Given the description of an element on the screen output the (x, y) to click on. 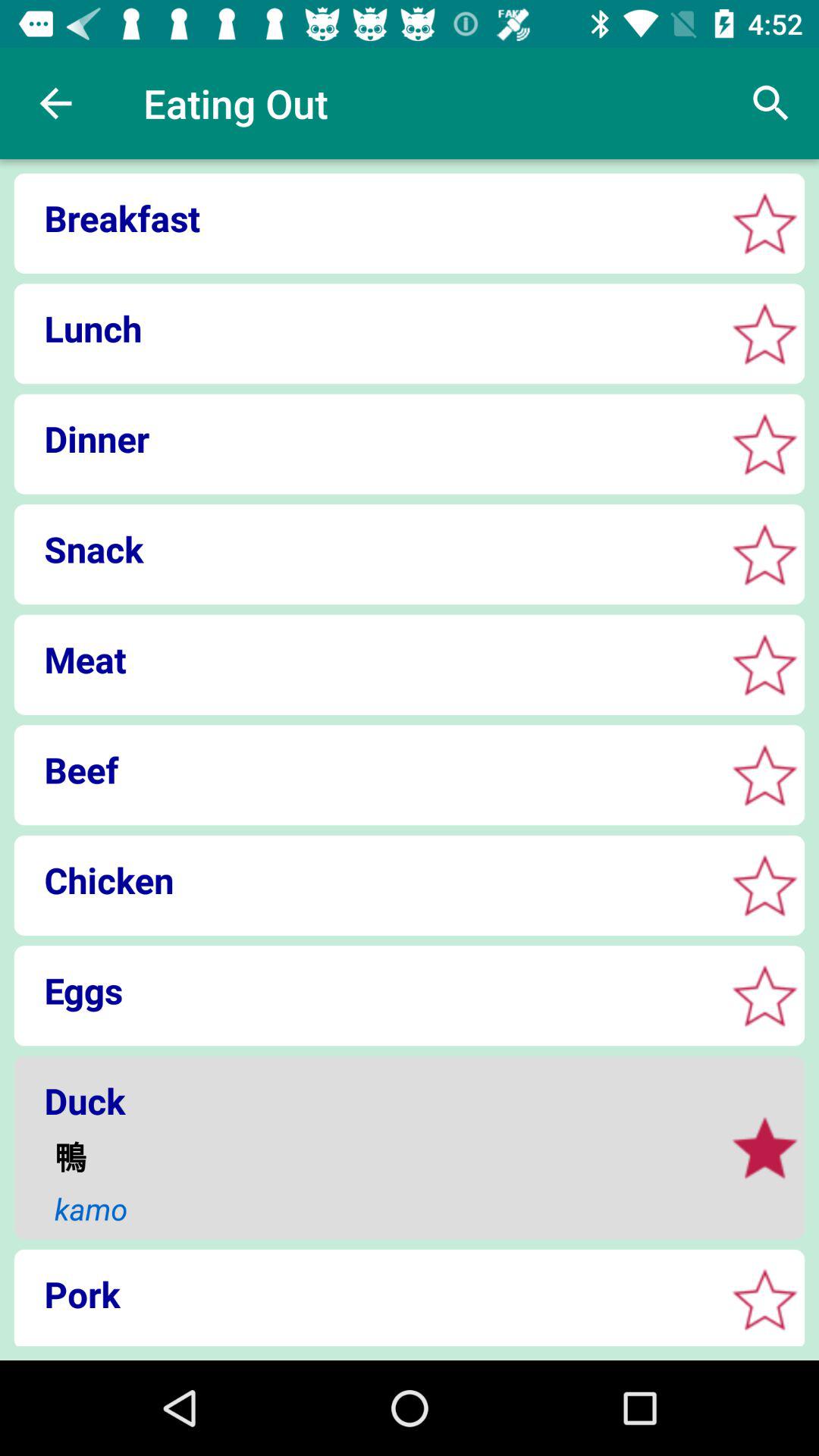
press item above lunch item (364, 217)
